Given the description of an element on the screen output the (x, y) to click on. 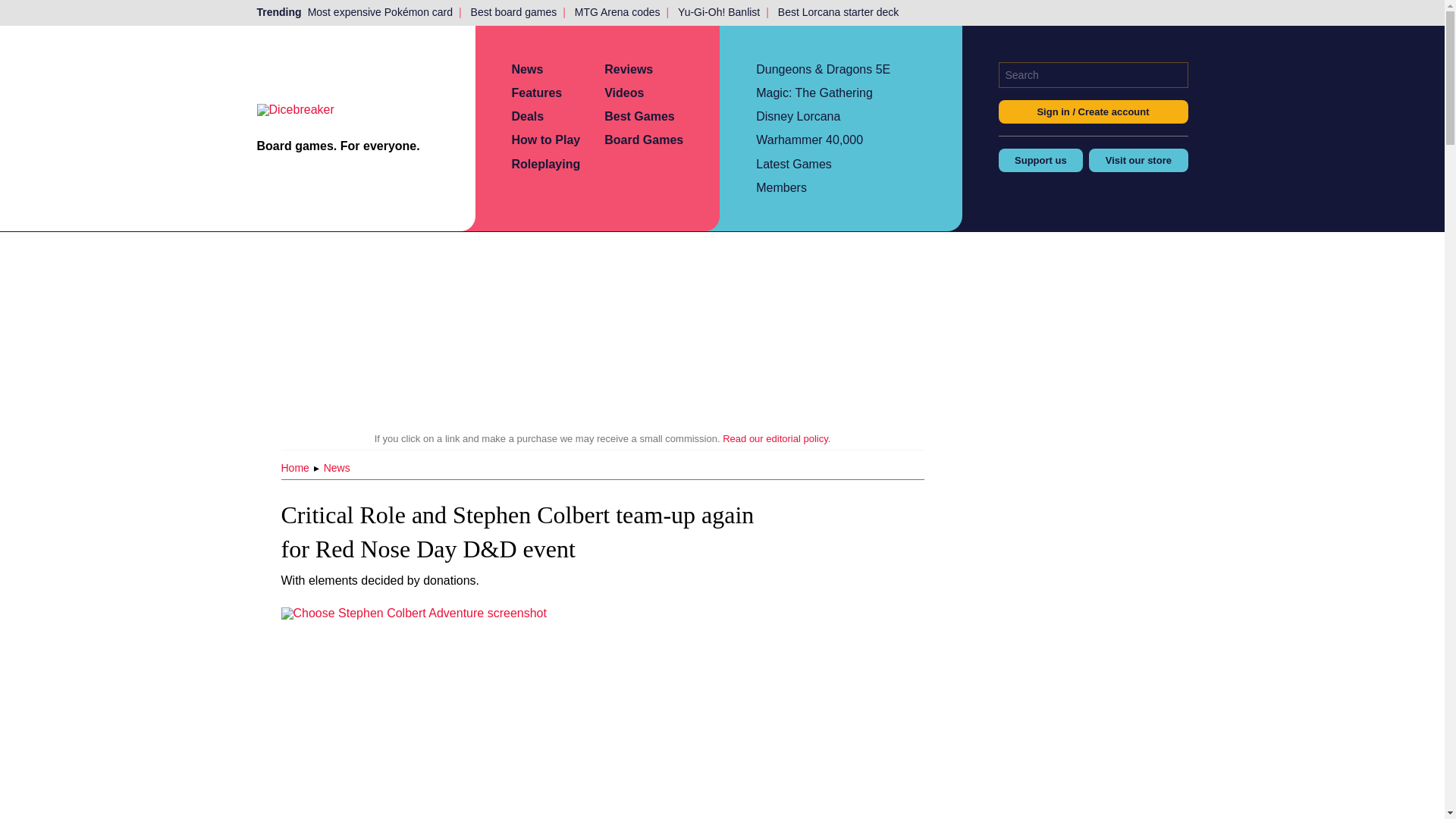
Best board games (513, 12)
Deals (527, 115)
Home (296, 467)
Latest Games (793, 164)
Videos (623, 92)
MTG Arena codes (617, 12)
Reviews (628, 69)
News (336, 467)
Warhammer 40,000 (809, 139)
Yu-Gi-Oh! Banlist (718, 12)
